Given the description of an element on the screen output the (x, y) to click on. 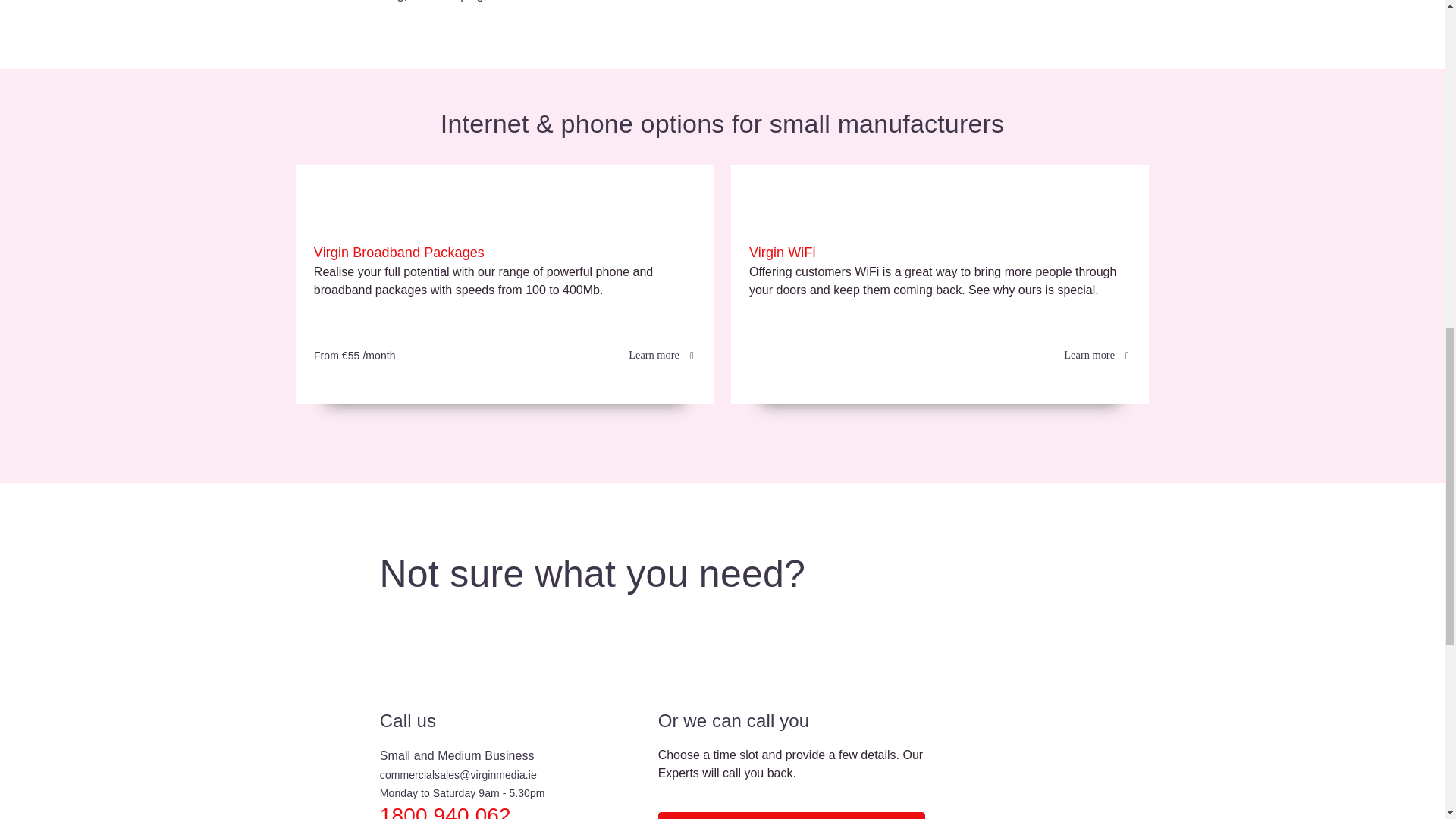
Scroll Down Arrows (721, 59)
Call me back form phone outgoing icon (693, 655)
Call me back form phone icon (415, 655)
